Given the description of an element on the screen output the (x, y) to click on. 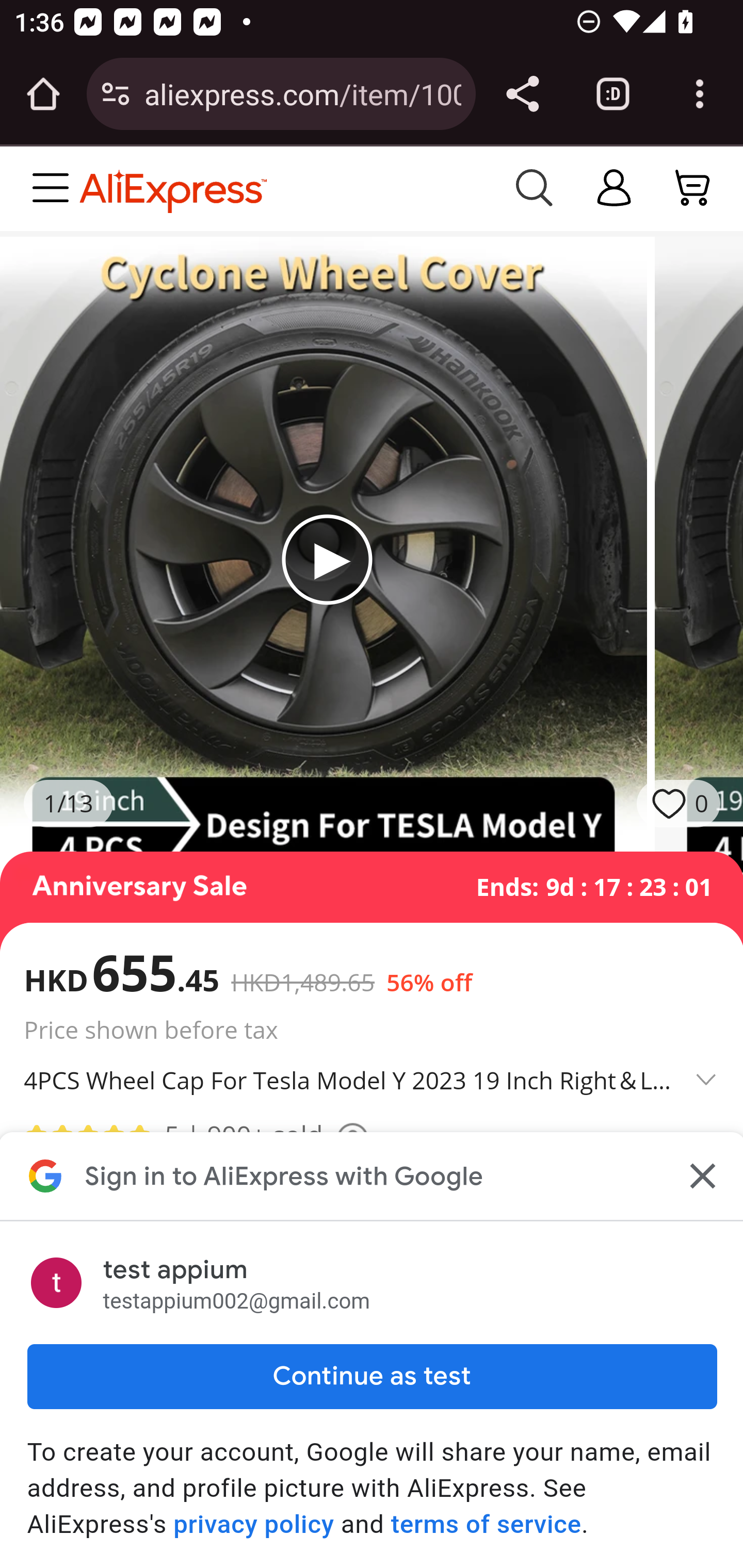
Open the home page (43, 93)
Connection is secure (115, 93)
Share (522, 93)
Switch or close tabs (612, 93)
Customize and control Google Chrome (699, 93)
aliexpress (285, 188)
category (54, 188)
shop (614, 188)
account (693, 188)
Close (700, 1175)
Continue as test (371, 1376)
privacy policy (254, 1523)
terms of service (485, 1523)
